Given the description of an element on the screen output the (x, y) to click on. 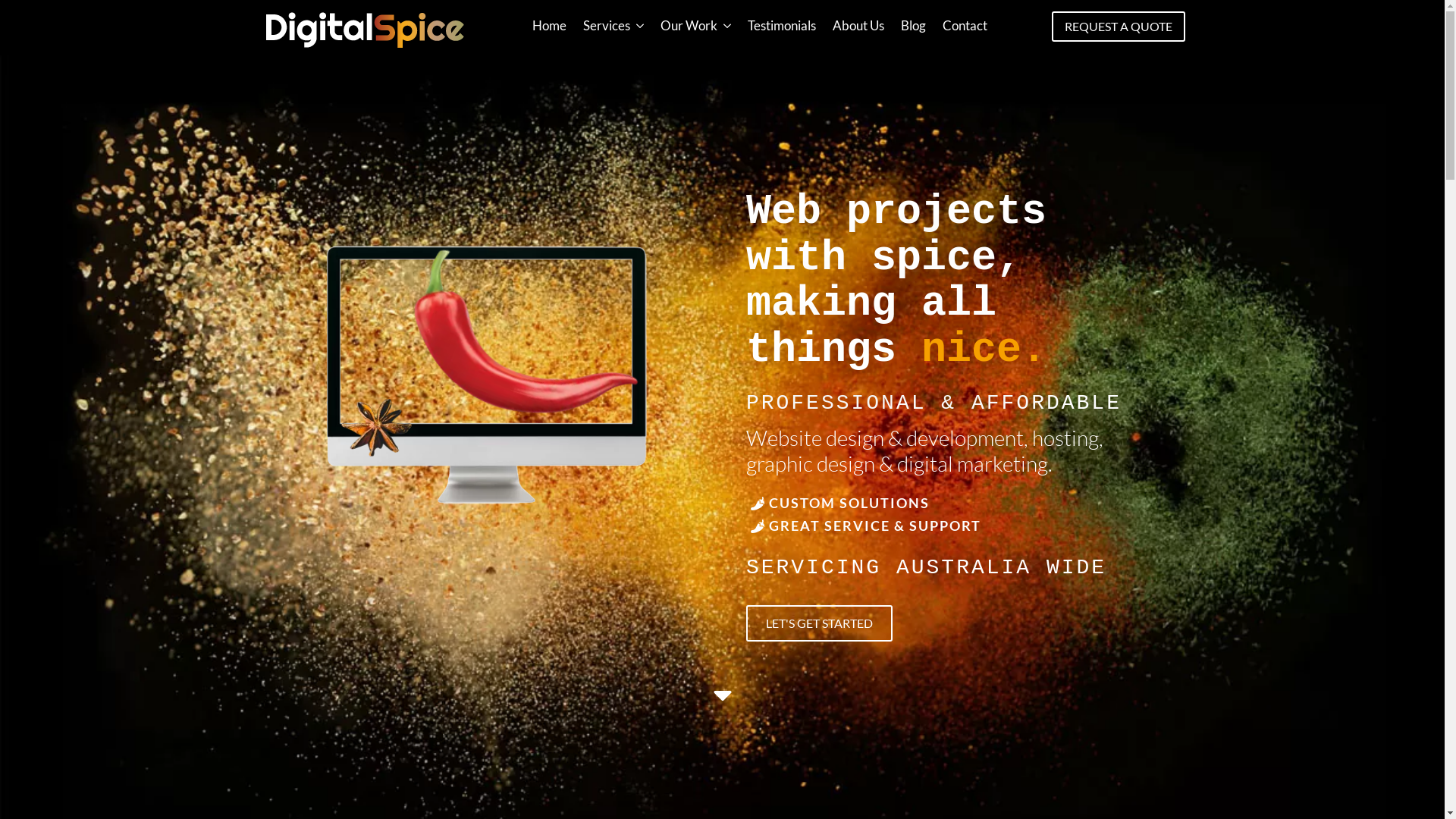
LET'S GET STARTED Element type: text (819, 623)
REQUEST A QUOTE Element type: text (1118, 26)
Contact Element type: text (964, 25)
Blog Element type: text (913, 25)
Our Work Element type: text (684, 25)
Home Element type: text (549, 25)
Services Element type: text (602, 25)
About Us Element type: text (858, 25)
Testimonials Element type: text (781, 25)
